Given the description of an element on the screen output the (x, y) to click on. 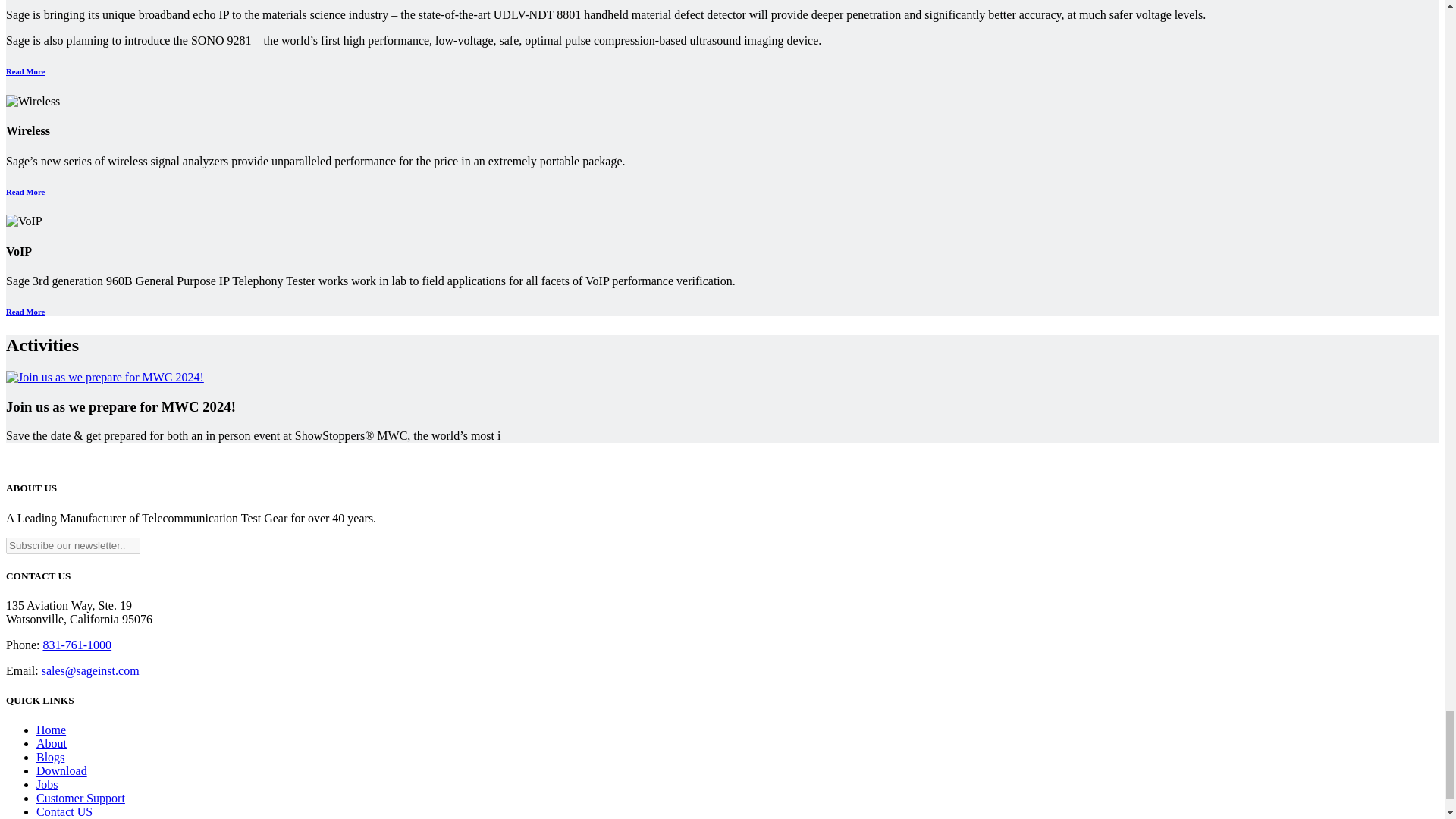
VoIP (23, 221)
Join us as we prepare for MWC 2024! (104, 377)
Wireless (32, 101)
